Given the description of an element on the screen output the (x, y) to click on. 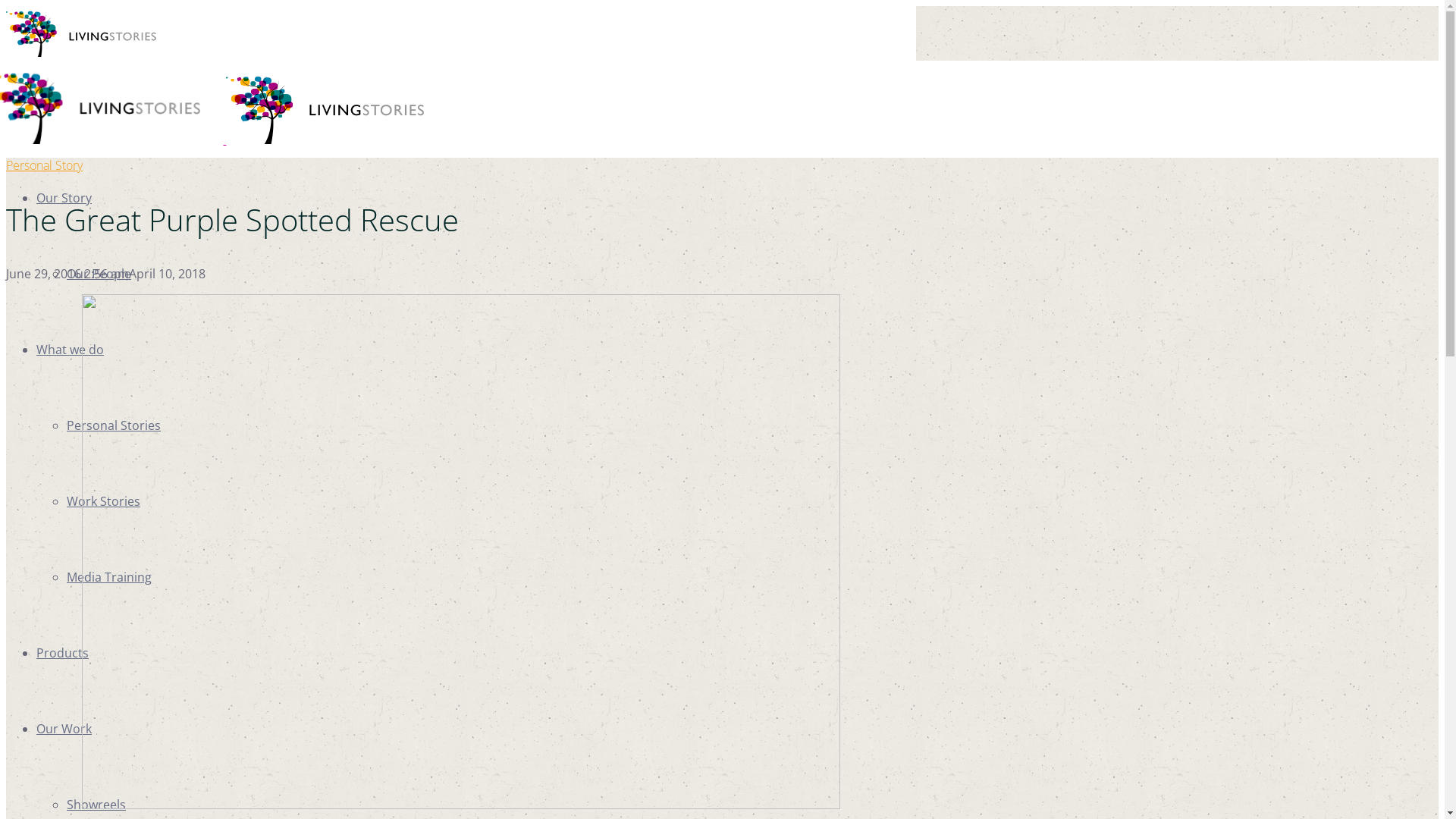
Personal Stories Element type: text (113, 425)
Products Element type: text (62, 652)
Media Training Element type: text (108, 576)
Our People Element type: text (98, 273)
What we do Element type: text (69, 349)
Work Stories Element type: text (103, 500)
Our Story Element type: text (63, 197)
Our Work Element type: text (63, 728)
Personal Story Element type: text (44, 164)
Showreels Element type: text (95, 804)
